Given the description of an element on the screen output the (x, y) to click on. 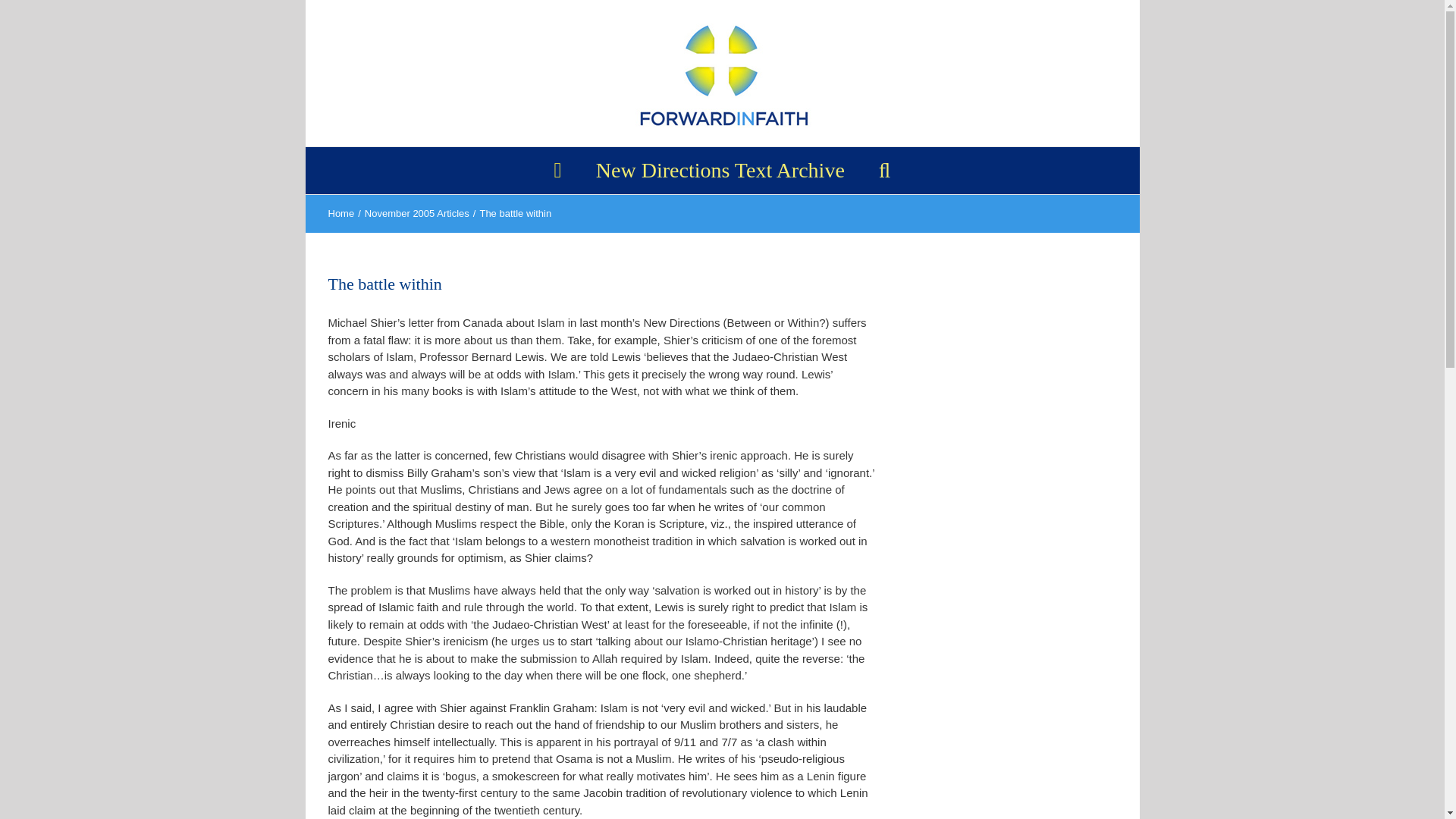
Home (340, 213)
New Directions Directions (719, 170)
New Directions Text Archive (719, 170)
November 2005 Articles (416, 213)
